Given the description of an element on the screen output the (x, y) to click on. 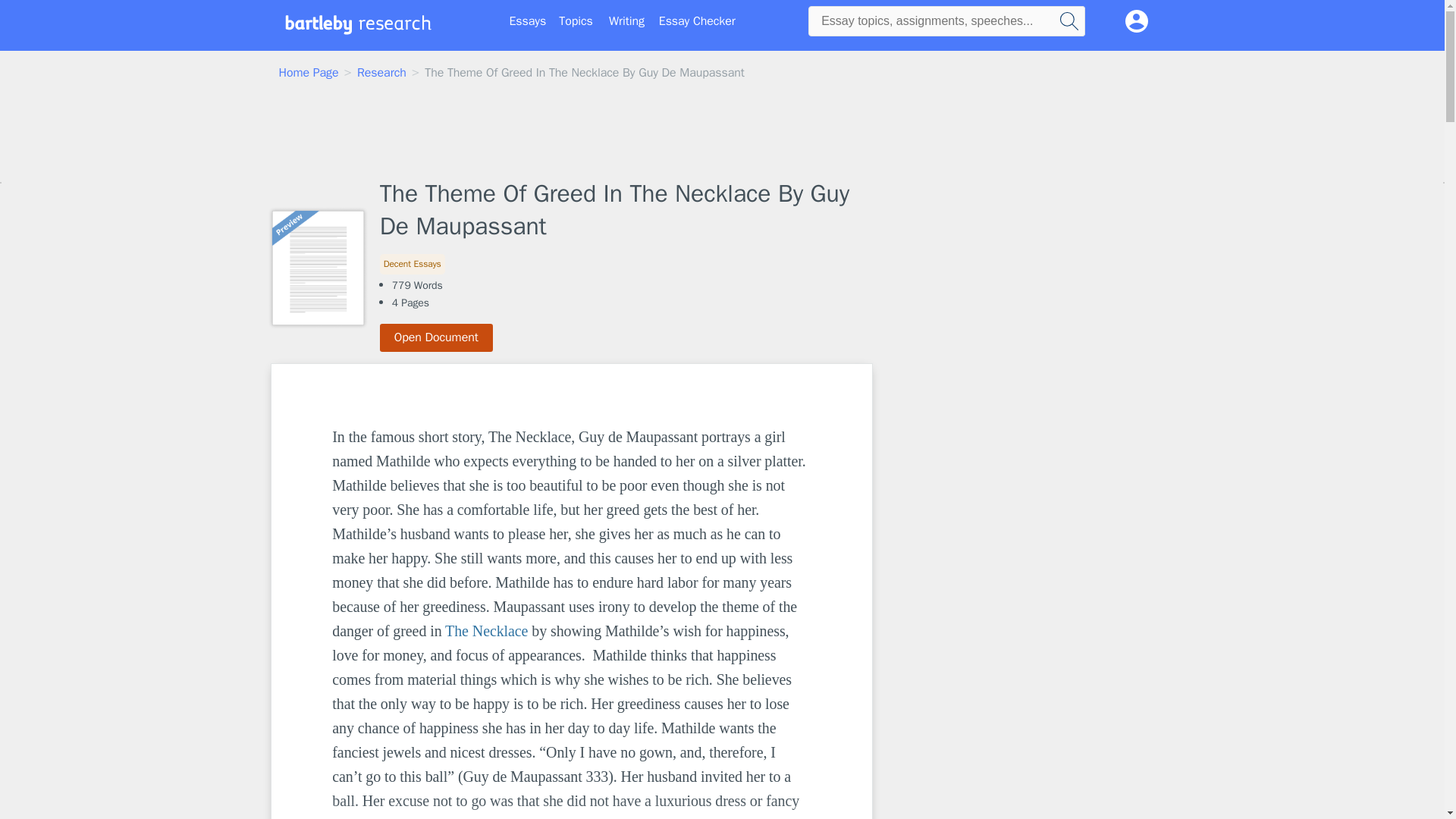
Topics (575, 20)
Essays (528, 20)
Research (381, 72)
Essay Checker (697, 20)
The Necklace (486, 630)
Writing (626, 20)
Home Page (309, 72)
Open Document (436, 337)
